Given the description of an element on the screen output the (x, y) to click on. 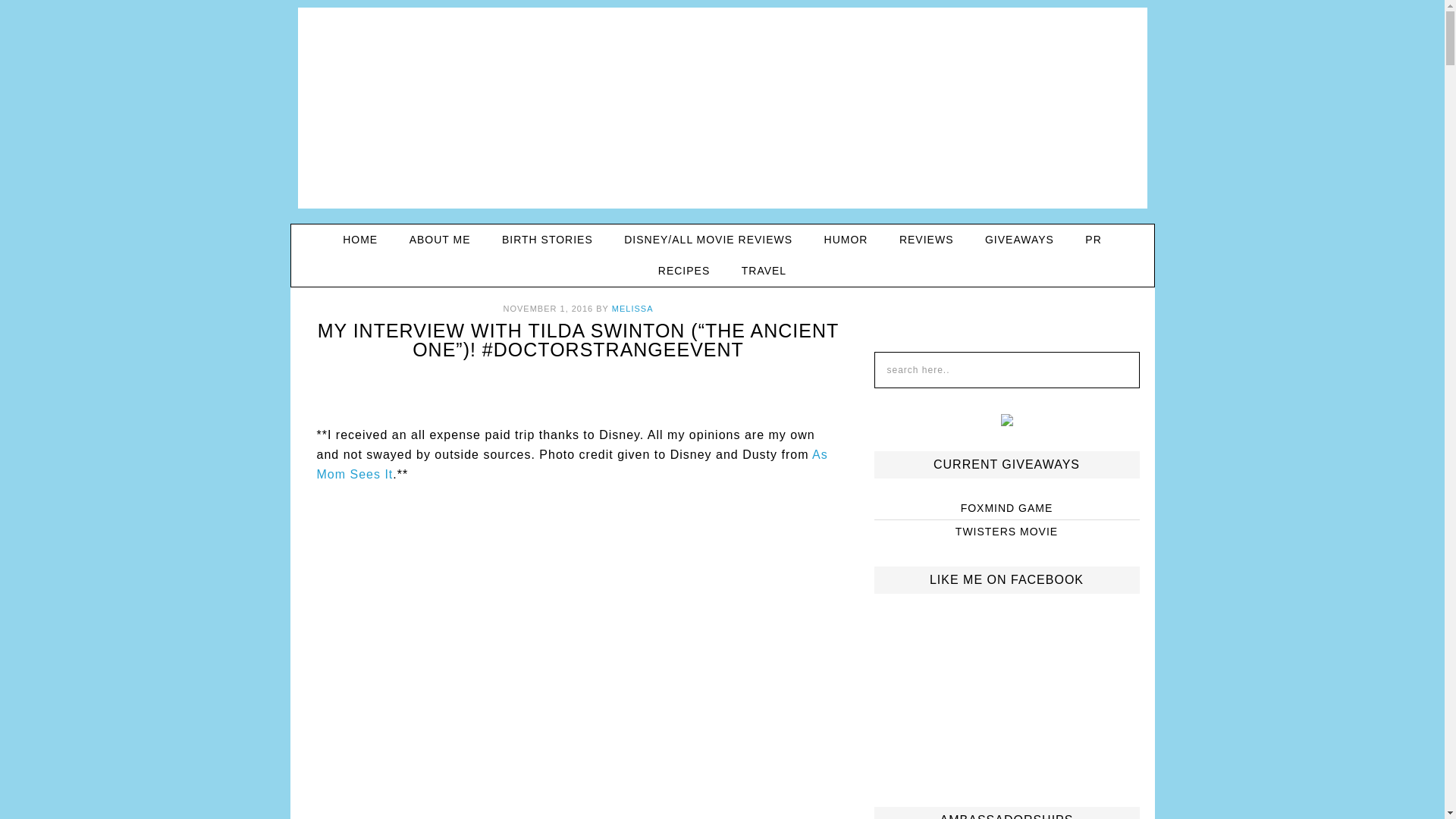
HOME (360, 239)
BIRTH STORIES (547, 239)
THE MOMMYHOOD CHRONICLES (722, 113)
ABOUT ME (440, 239)
As Mom Sees It (572, 463)
REVIEWS (926, 239)
TRAVEL (763, 270)
RECIPES (684, 270)
GIVEAWAYS (1019, 239)
